Given the description of an element on the screen output the (x, y) to click on. 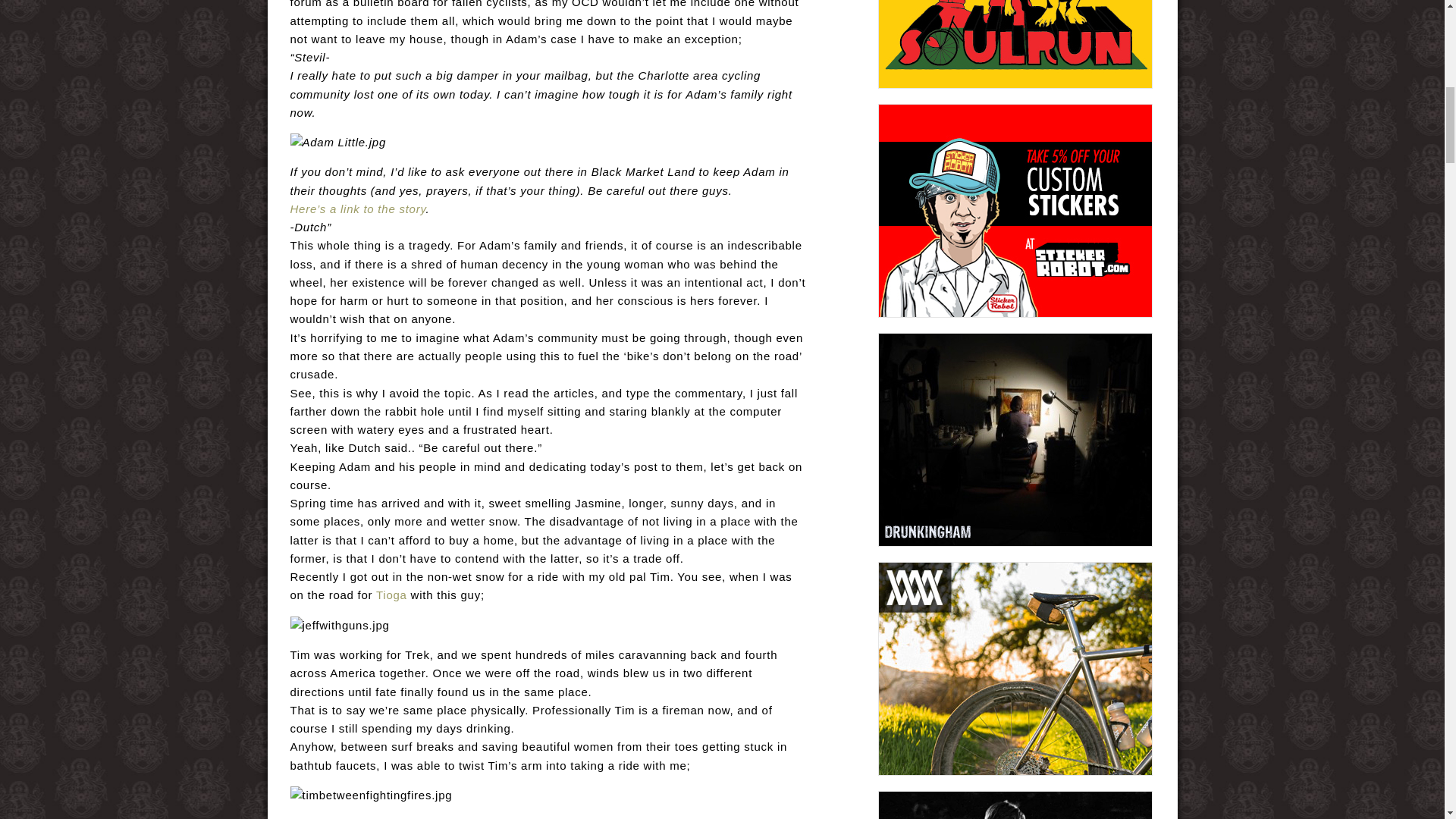
Tioga (391, 594)
